Given the description of an element on the screen output the (x, y) to click on. 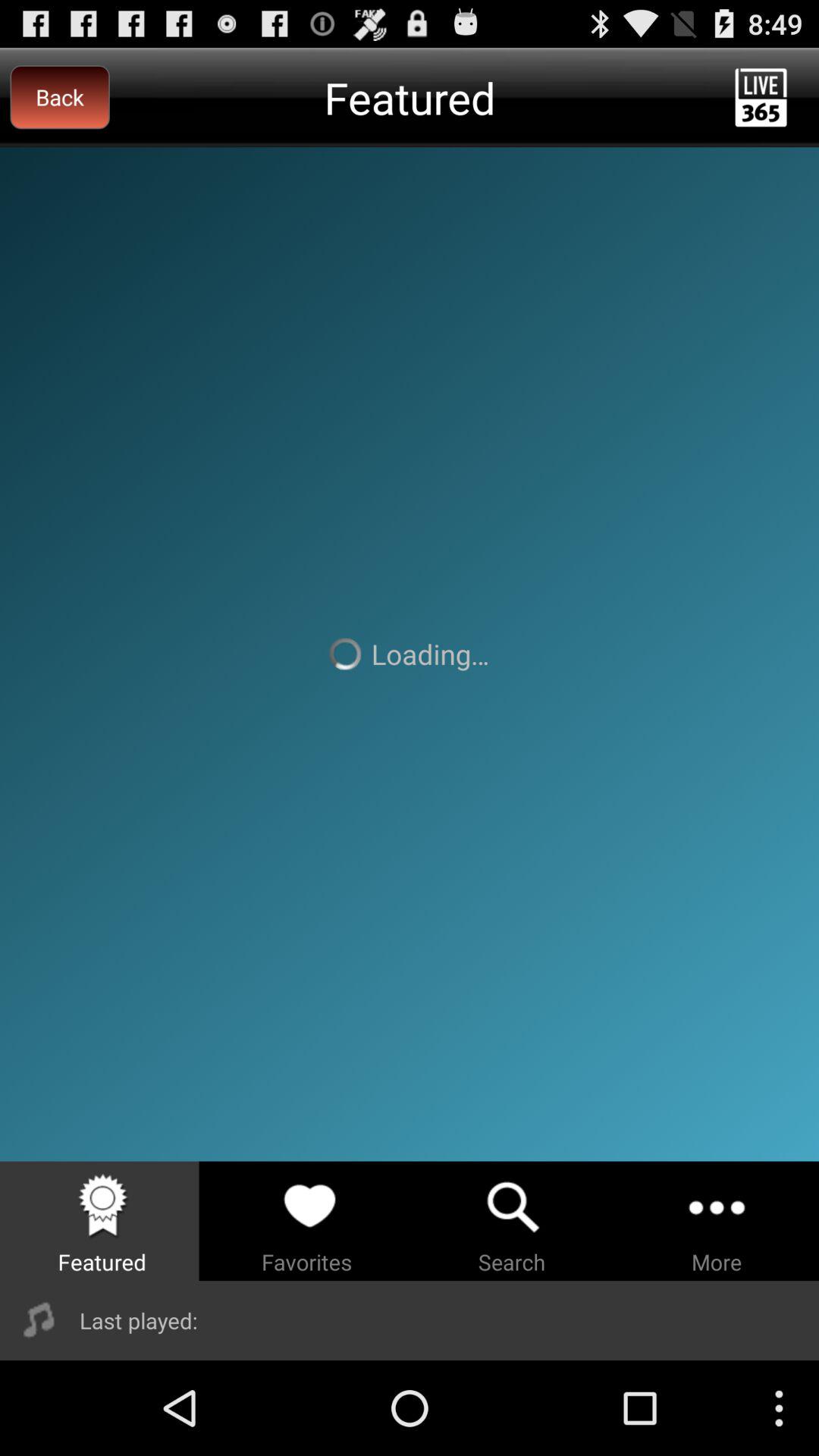
launch the back icon (59, 97)
